Given the description of an element on the screen output the (x, y) to click on. 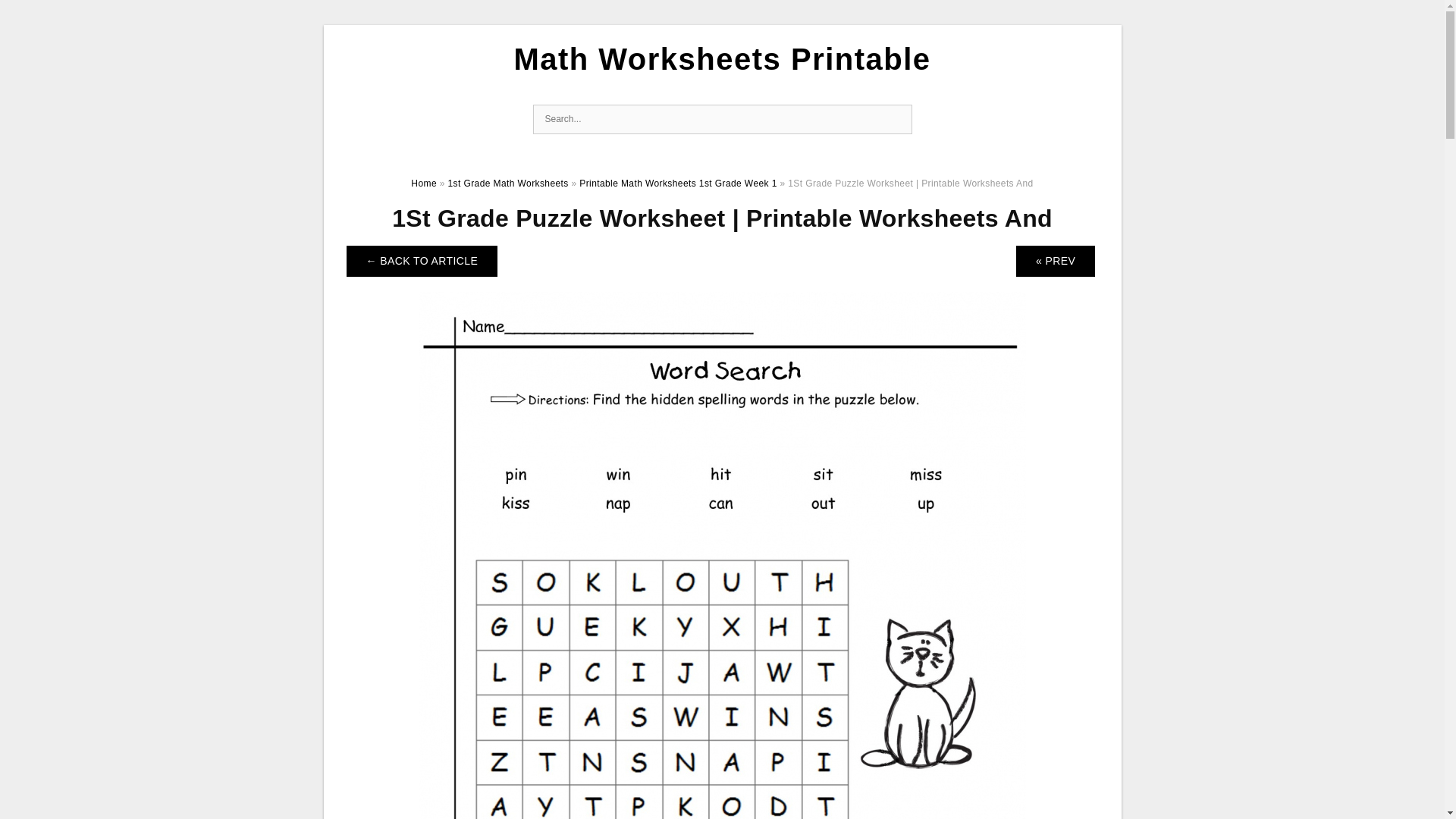
Search (895, 119)
Home (423, 183)
Return to Printable Math Worksheets 1st Grade Week 1 (421, 260)
Search for: (721, 119)
Math Worksheets Printable (721, 59)
Search (895, 119)
1st Grade Math Worksheets (508, 183)
Search (895, 119)
Printable Math Worksheets 1st Grade Week 1 (677, 183)
